Given the description of an element on the screen output the (x, y) to click on. 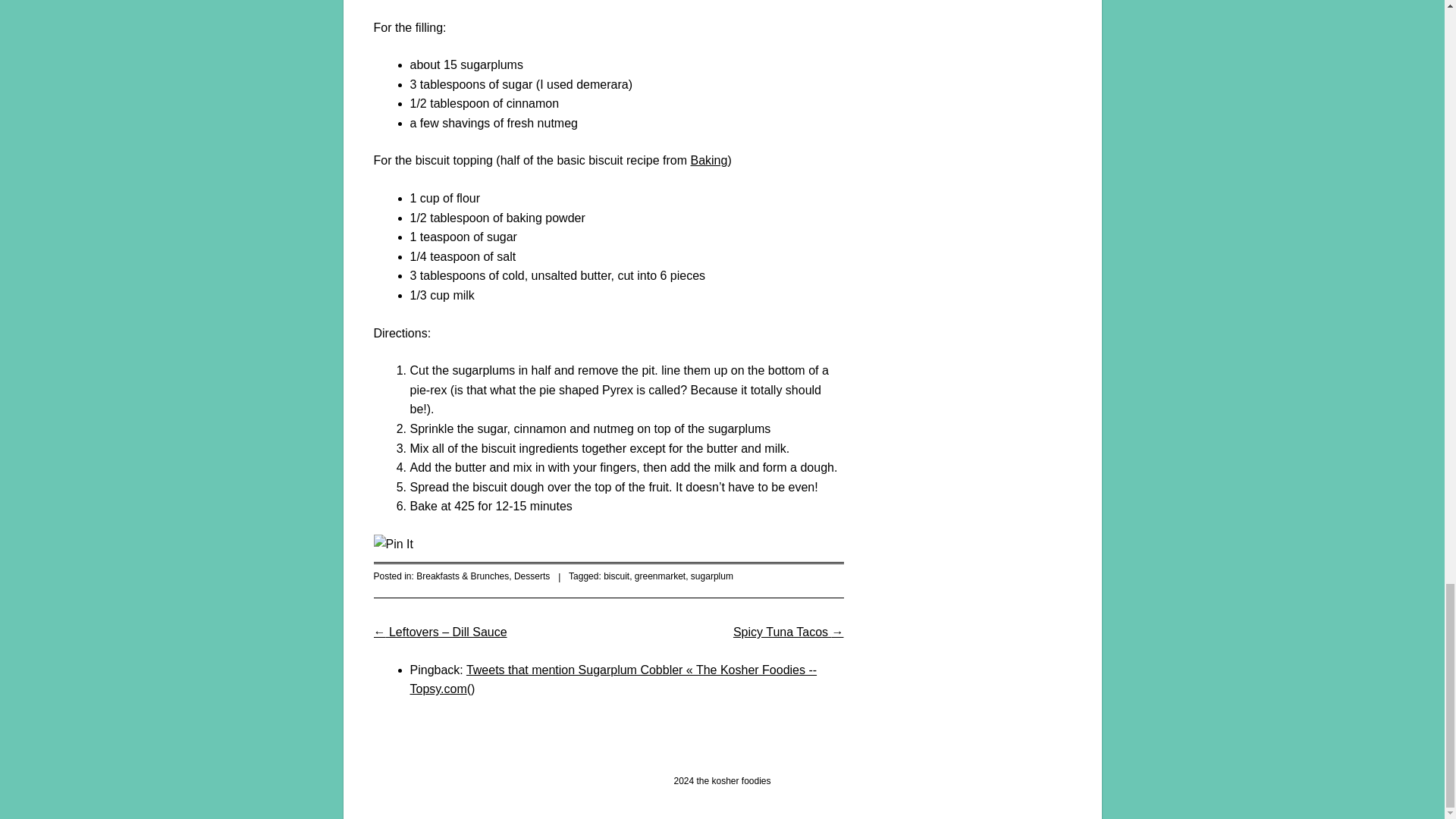
Pin It (392, 544)
greenmarket (659, 575)
Desserts (531, 575)
Baking (708, 160)
sugarplum (711, 575)
biscuit (616, 575)
